Given the description of an element on the screen output the (x, y) to click on. 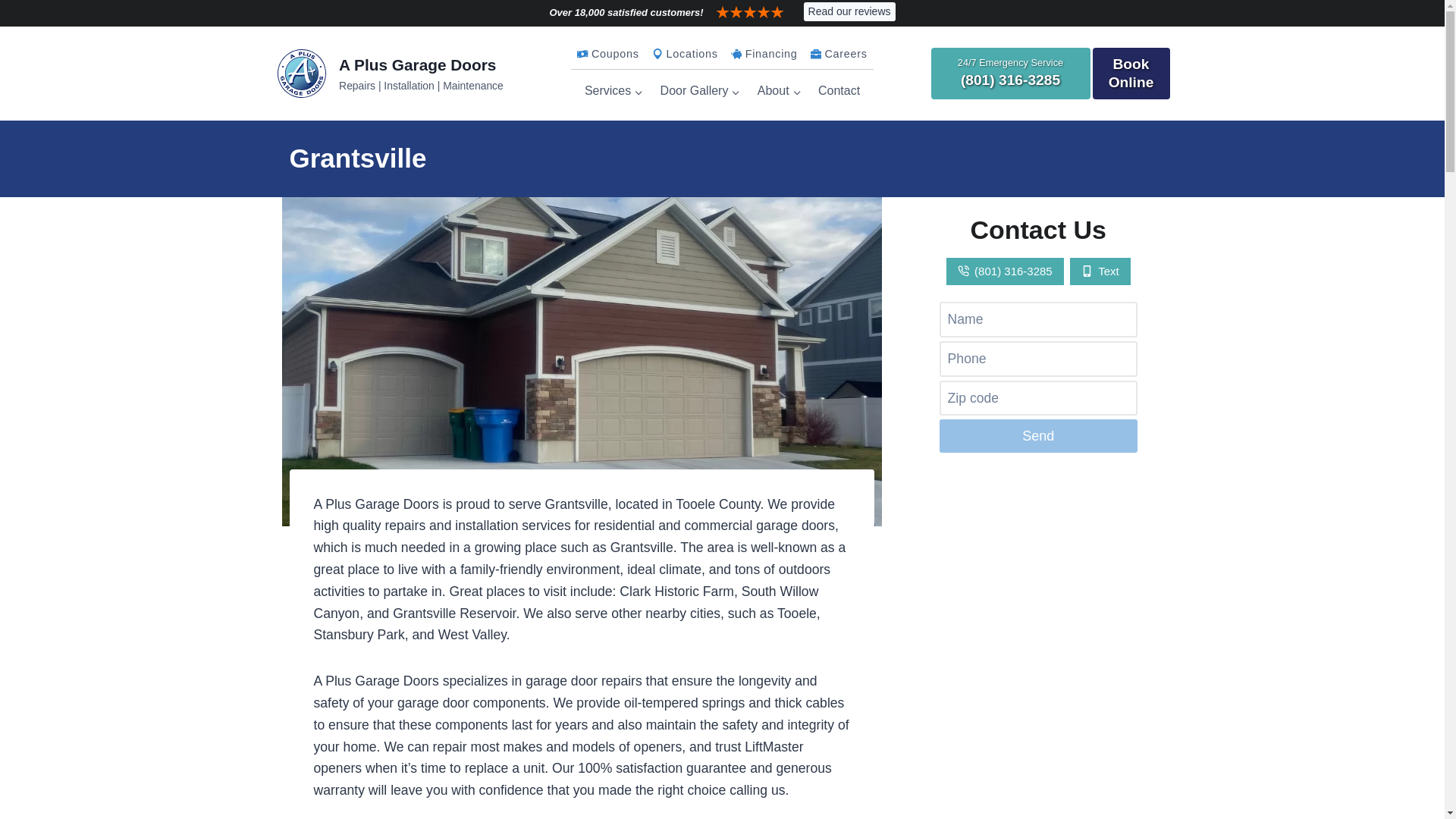
Financing (763, 54)
Services (614, 91)
Door Gallery (699, 91)
Read our reviews (849, 11)
Careers (838, 54)
Coupons (608, 54)
Send (1038, 435)
Locations (684, 54)
